Given the description of an element on the screen output the (x, y) to click on. 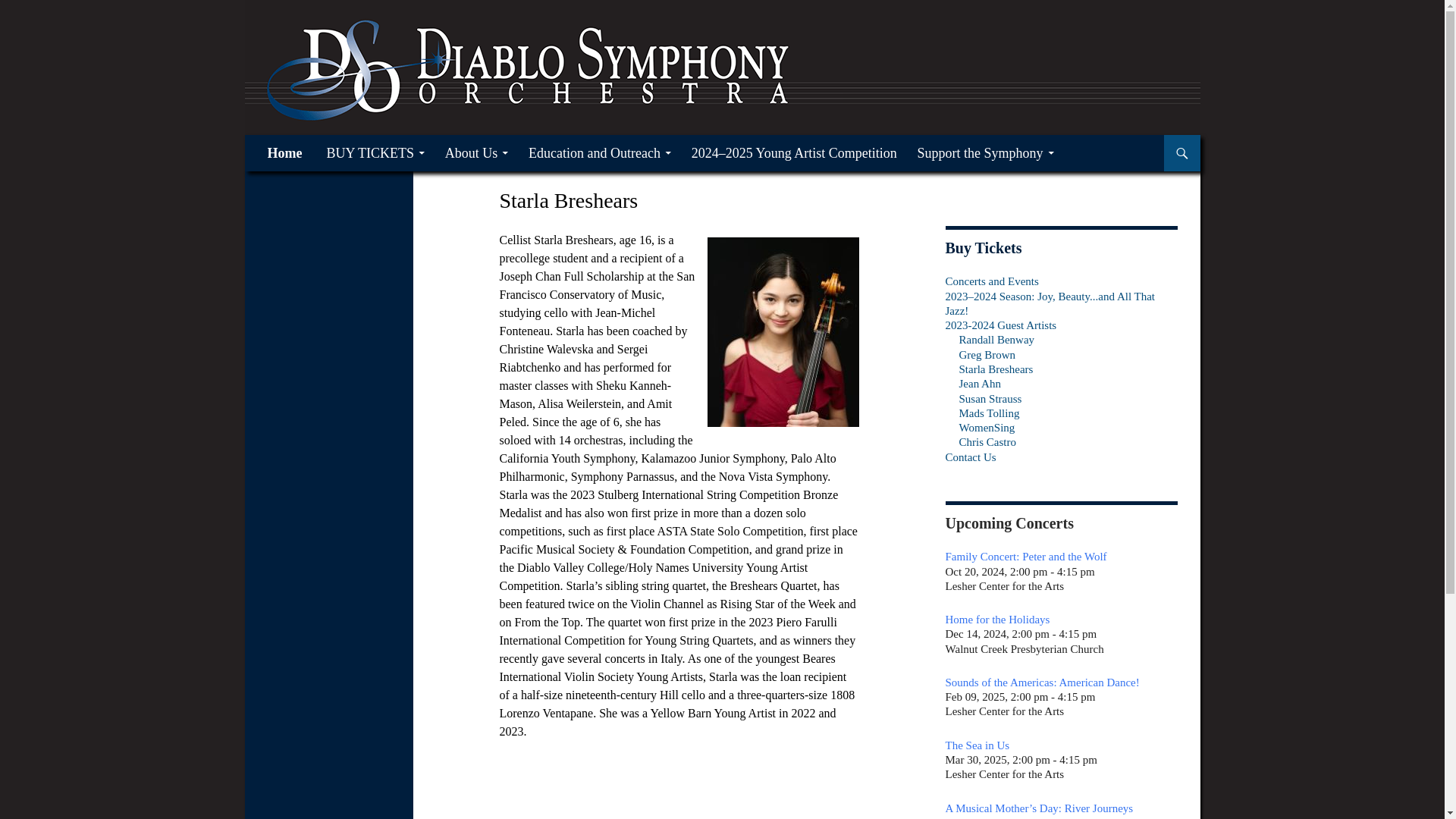
Home (283, 153)
Concerts and Events (991, 281)
About Us (476, 153)
Support the Symphony (985, 153)
BUY TICKETS (375, 153)
Buy Tickets (983, 247)
Education and Outreach (599, 153)
